Given the description of an element on the screen output the (x, y) to click on. 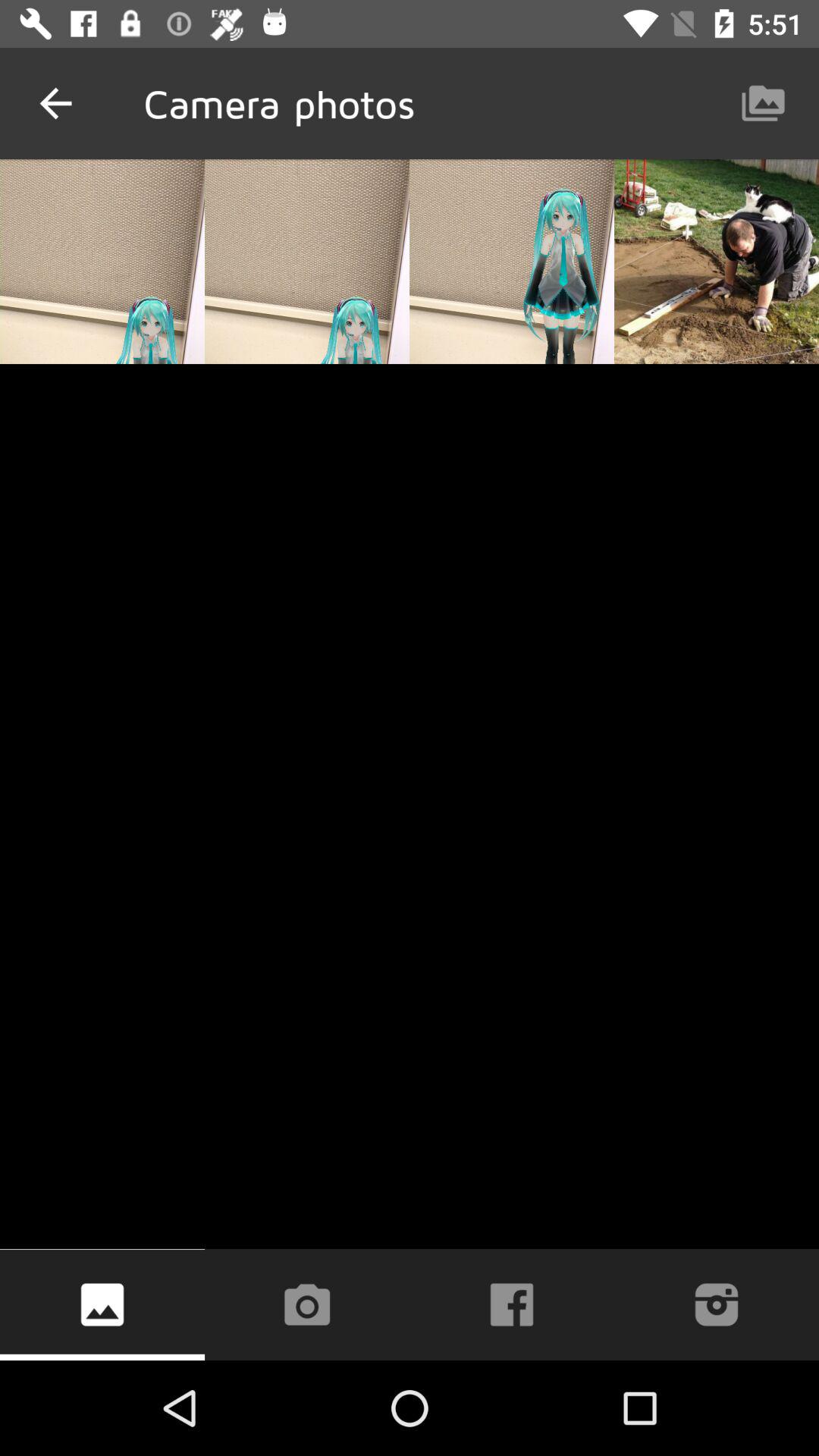
open the icon at the bottom right corner (716, 1304)
